Given the description of an element on the screen output the (x, y) to click on. 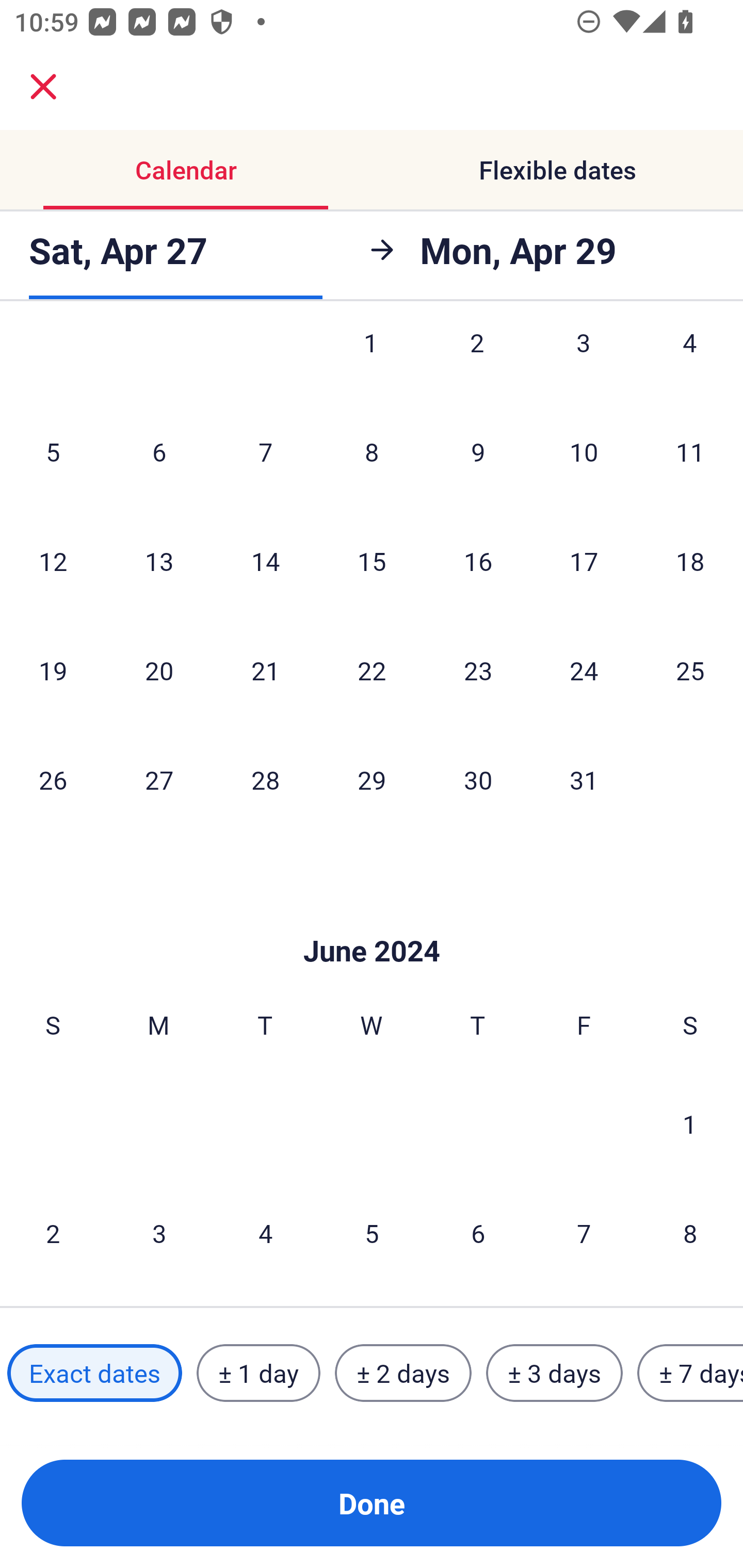
close. (43, 86)
Flexible dates (557, 170)
1 Wednesday, May 1, 2024 (371, 362)
2 Thursday, May 2, 2024 (477, 362)
3 Friday, May 3, 2024 (583, 362)
4 Saturday, May 4, 2024 (689, 362)
5 Sunday, May 5, 2024 (53, 451)
6 Monday, May 6, 2024 (159, 451)
7 Tuesday, May 7, 2024 (265, 451)
8 Wednesday, May 8, 2024 (371, 451)
9 Thursday, May 9, 2024 (477, 451)
10 Friday, May 10, 2024 (584, 451)
11 Saturday, May 11, 2024 (690, 451)
12 Sunday, May 12, 2024 (53, 560)
13 Monday, May 13, 2024 (159, 560)
14 Tuesday, May 14, 2024 (265, 560)
15 Wednesday, May 15, 2024 (371, 560)
16 Thursday, May 16, 2024 (477, 560)
17 Friday, May 17, 2024 (584, 560)
18 Saturday, May 18, 2024 (690, 560)
19 Sunday, May 19, 2024 (53, 669)
20 Monday, May 20, 2024 (159, 669)
21 Tuesday, May 21, 2024 (265, 669)
22 Wednesday, May 22, 2024 (371, 669)
23 Thursday, May 23, 2024 (477, 669)
24 Friday, May 24, 2024 (584, 669)
25 Saturday, May 25, 2024 (690, 669)
26 Sunday, May 26, 2024 (53, 778)
27 Monday, May 27, 2024 (159, 778)
28 Tuesday, May 28, 2024 (265, 778)
29 Wednesday, May 29, 2024 (371, 778)
30 Thursday, May 30, 2024 (477, 778)
31 Friday, May 31, 2024 (584, 778)
Skip to Done (371, 919)
1 Saturday, June 1, 2024 (689, 1123)
2 Sunday, June 2, 2024 (53, 1232)
3 Monday, June 3, 2024 (159, 1232)
4 Tuesday, June 4, 2024 (265, 1232)
5 Wednesday, June 5, 2024 (371, 1232)
6 Thursday, June 6, 2024 (477, 1232)
7 Friday, June 7, 2024 (584, 1232)
8 Saturday, June 8, 2024 (690, 1232)
Exact dates (94, 1372)
± 1 day (258, 1372)
± 2 days (403, 1372)
± 3 days (553, 1372)
± 7 days (690, 1372)
Done (371, 1502)
